Given the description of an element on the screen output the (x, y) to click on. 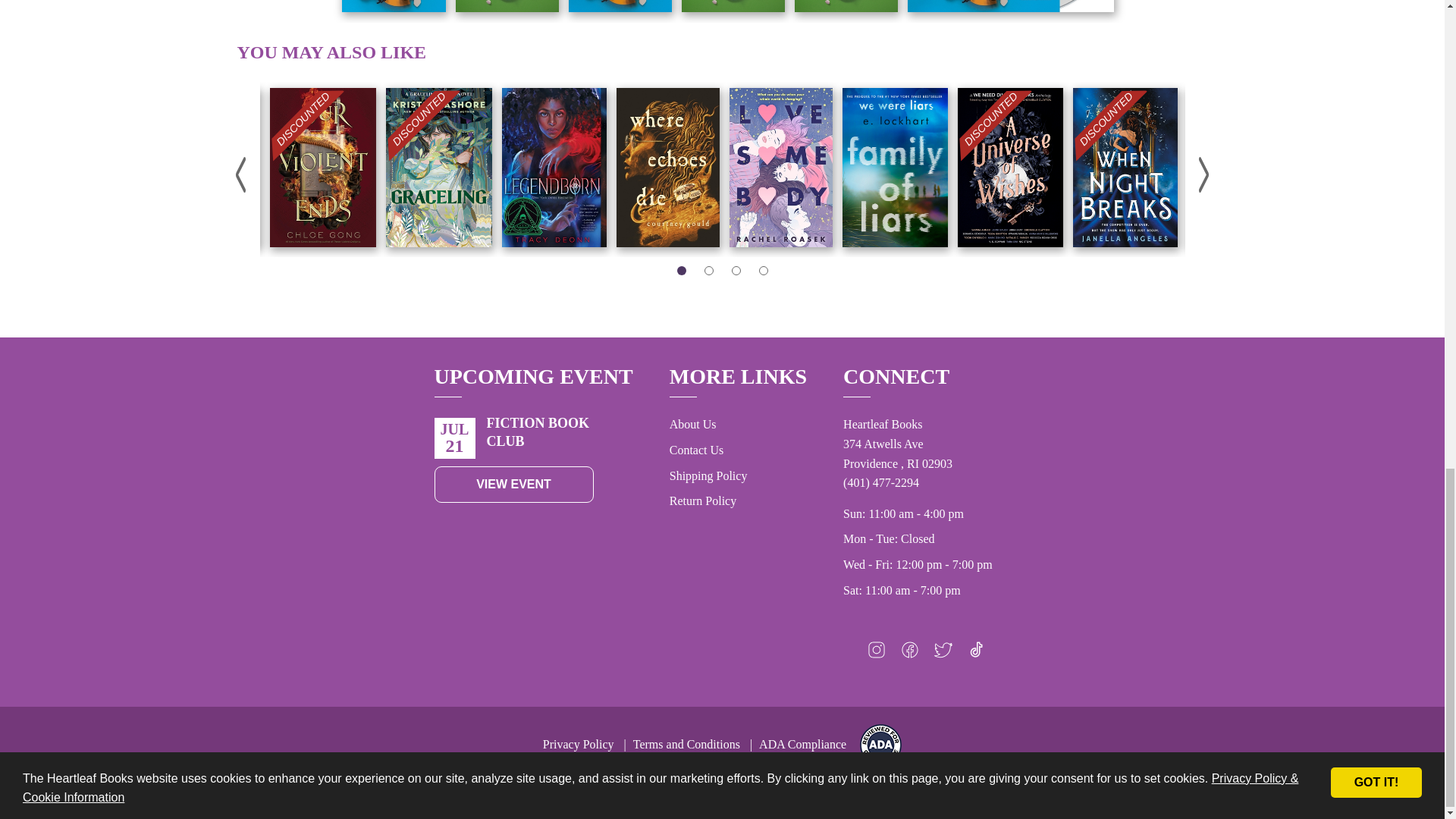
Connect with Instagram (876, 653)
Connect with Twitter (943, 653)
Connect with Facebook (909, 653)
